Given the description of an element on the screen output the (x, y) to click on. 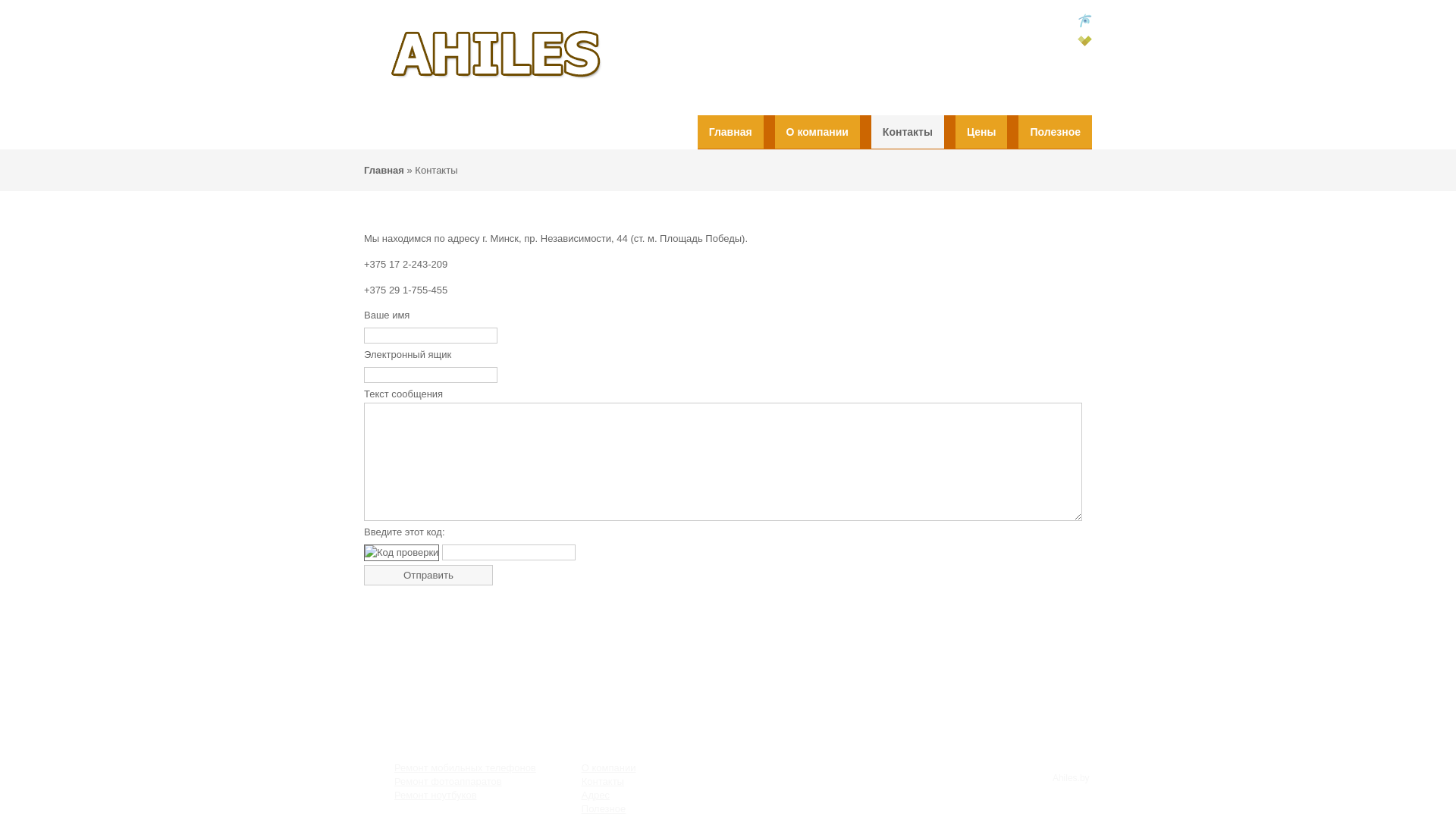
Ahiles.by Element type: text (1070, 777)
